Given the description of an element on the screen output the (x, y) to click on. 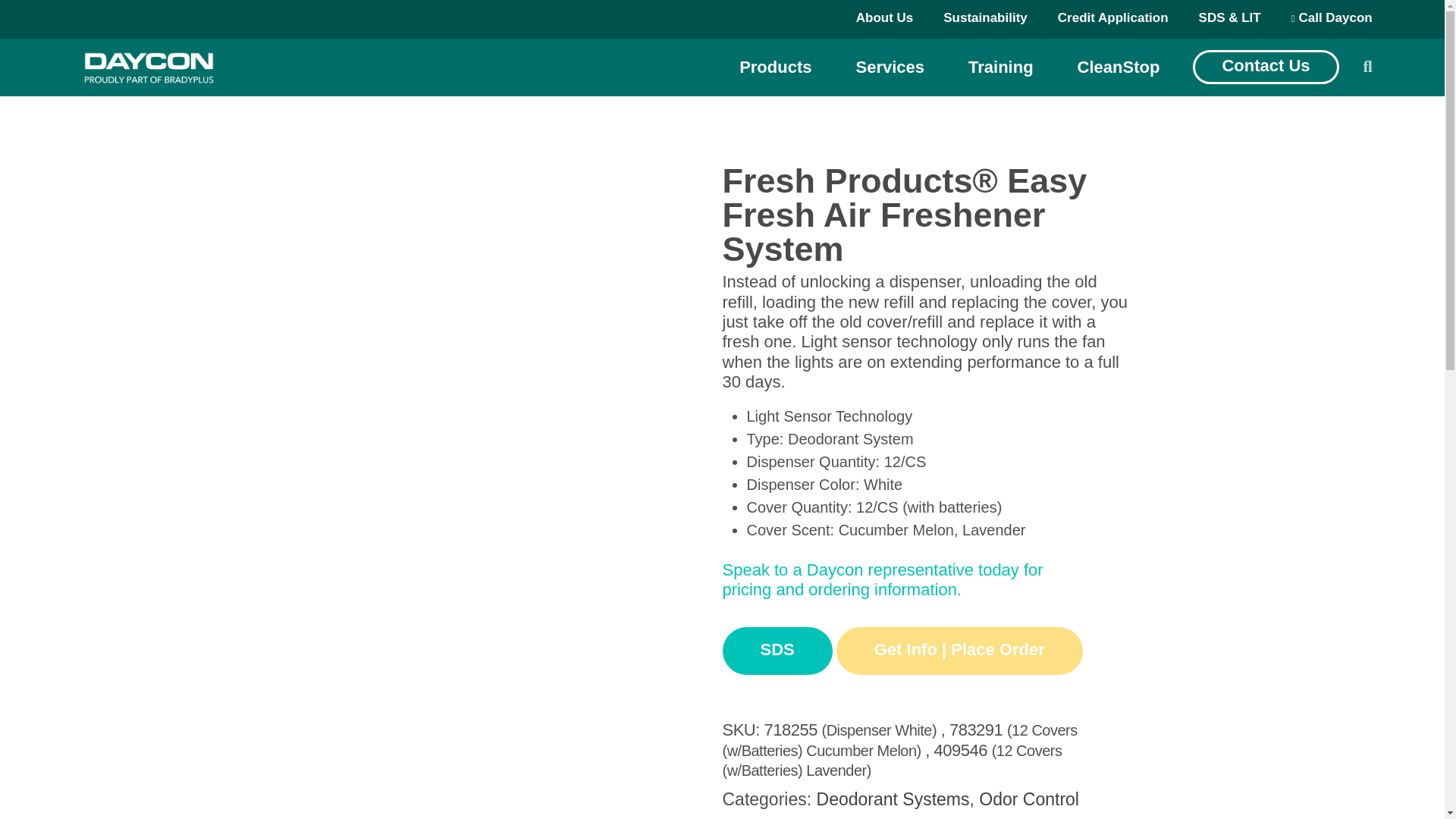
The homepage for Daycon (148, 67)
Navigate to Products (775, 67)
Navigate to CleanStop (1118, 67)
The homepage for Daycon (148, 67)
Navigate to Credit Application (1113, 17)
Odor Control (420, 84)
Navigate to About Us (885, 17)
Services (889, 67)
Credit Application (1113, 17)
Navigate to Training (1000, 67)
Navigate to Call Daycon (1332, 17)
CleanStop (1118, 67)
Navigate to Services (889, 67)
Navigate to Sustainability (985, 17)
Call Daycon (1332, 17)
